Given the description of an element on the screen output the (x, y) to click on. 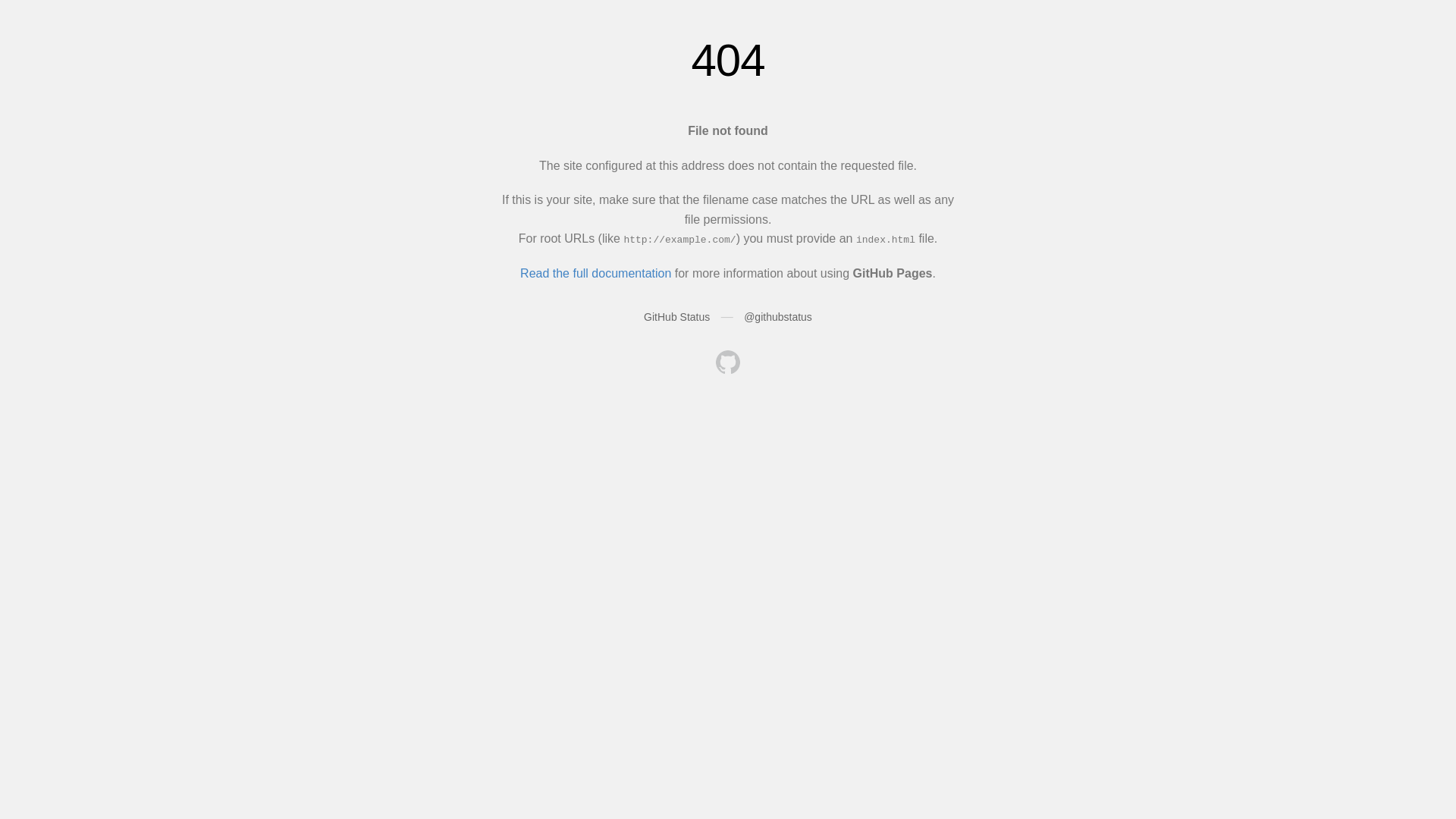
GitHub Status Element type: text (676, 316)
Read the full documentation Element type: text (595, 272)
@githubstatus Element type: text (777, 316)
